Given the description of an element on the screen output the (x, y) to click on. 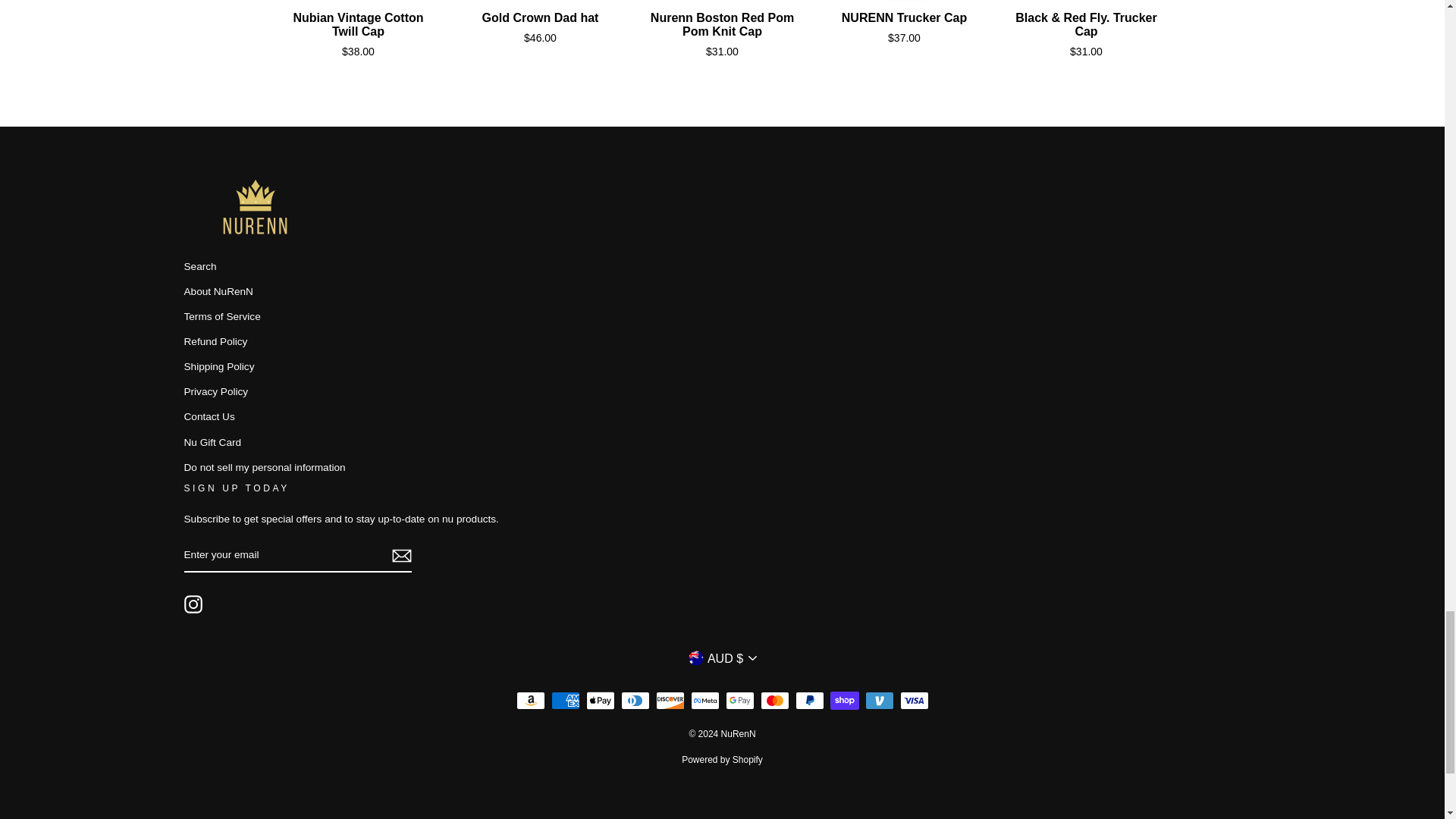
Nubian Vintage Cotton Twill Cap (358, 2)
Gold Crown Dad hat (540, 2)
NuRenN on Instagram (192, 604)
American Express (564, 700)
Amazon (529, 700)
Nurenn Boston Red Pom Pom Knit Cap (722, 2)
NURENN Trucker Cap (904, 2)
Apple Pay (599, 700)
